Given the description of an element on the screen output the (x, y) to click on. 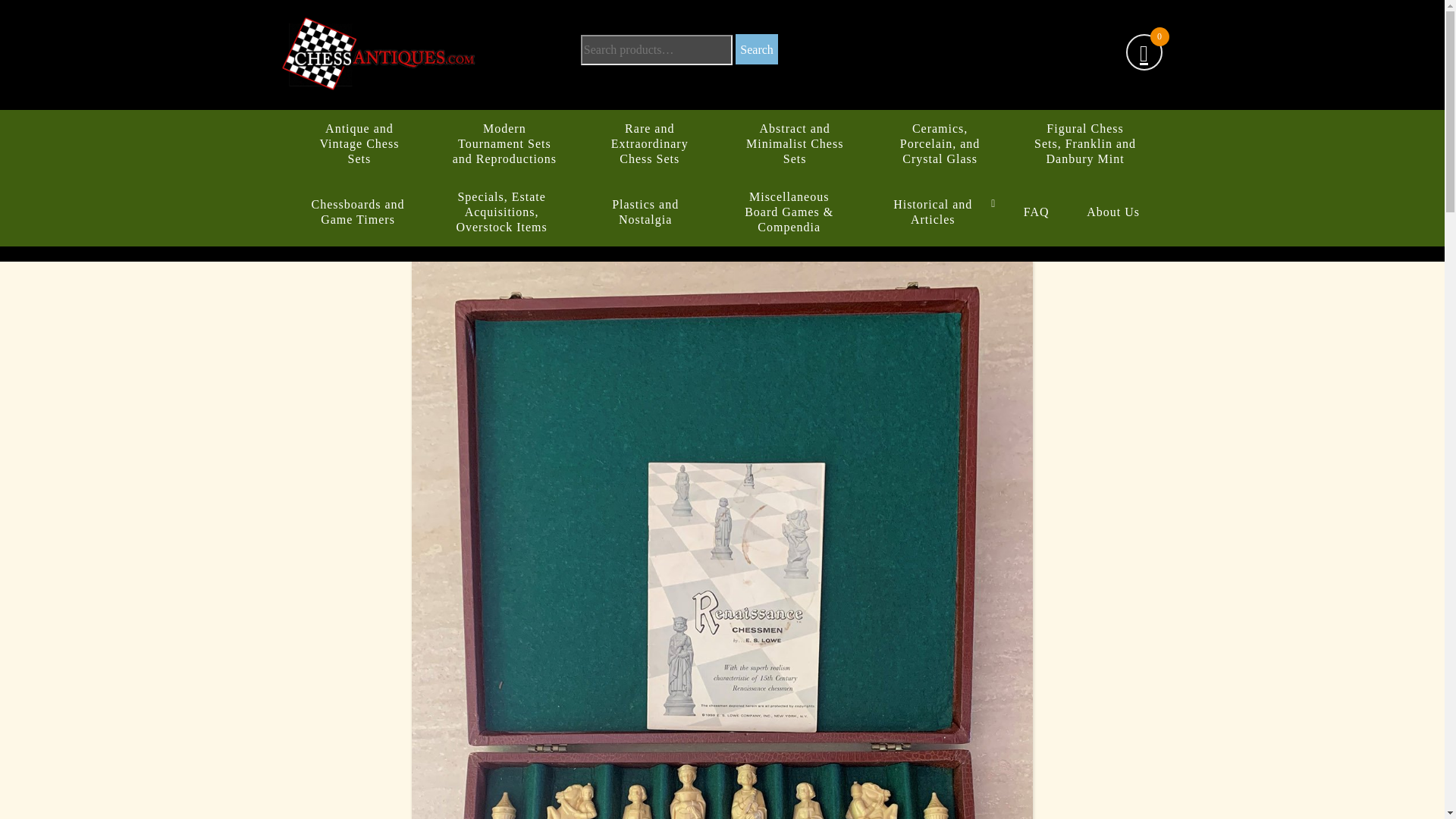
Modern Tournament Sets and Reproductions (504, 144)
Historical and Articles (932, 212)
About Us (1113, 212)
Ceramics, Porcelain, and Crystal Glass (940, 144)
Search (756, 49)
Plastics and Nostalgia (645, 212)
Specials, Estate Acquisitions, Overstock Items (502, 212)
Figural Chess Sets, Franklin and Danbury Mint (1085, 144)
Antique and Vintage Chess Sets (359, 144)
Rare and Extraordinary Chess Sets (649, 144)
Chessboards and Game Timers (358, 212)
0 (1143, 54)
Abstract and Minimalist Chess Sets (794, 144)
FAQ (1036, 212)
